Given the description of an element on the screen output the (x, y) to click on. 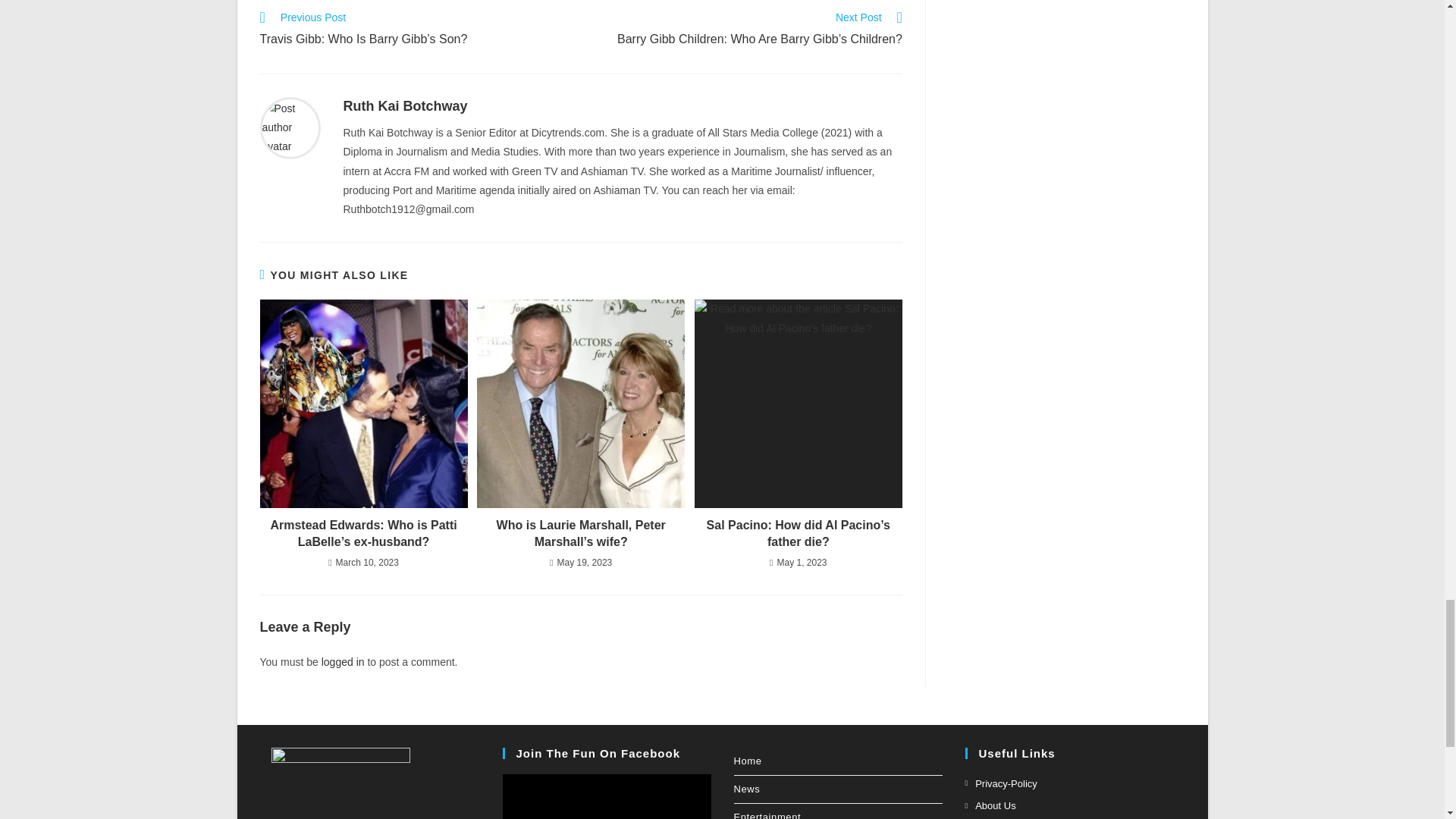
Visit author page (404, 105)
Visit author page (289, 127)
